Given the description of an element on the screen output the (x, y) to click on. 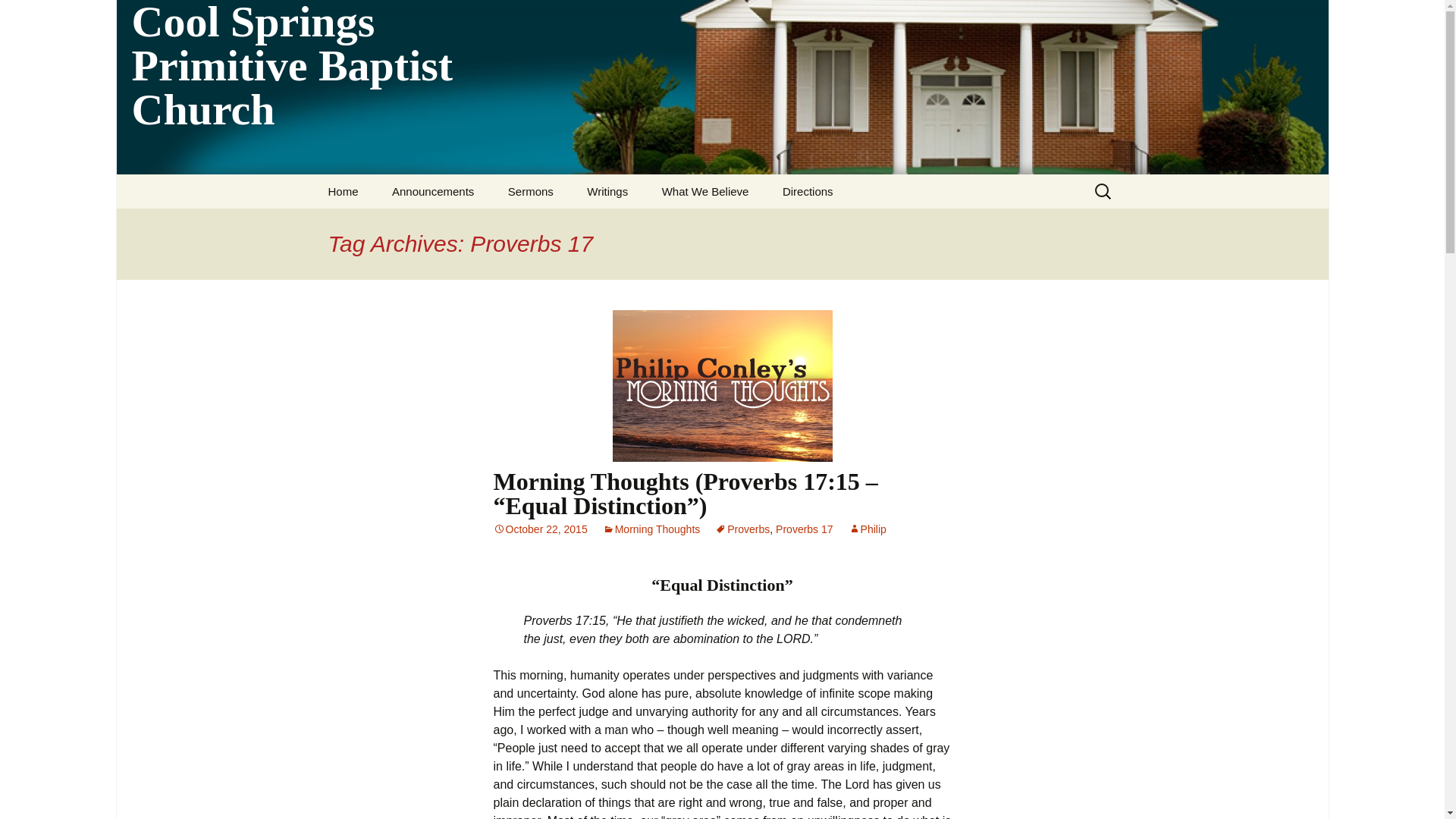
Search (18, 15)
Home (342, 191)
Proverbs (742, 529)
Announcements (433, 191)
Philip (867, 529)
October 22, 2015 (539, 529)
Sermons (531, 191)
Proverbs 17 (804, 529)
What We Believe (705, 191)
View all posts by Philip (867, 529)
Writings (607, 191)
Morning Thoughts (651, 529)
Directions (807, 191)
